Given the description of an element on the screen output the (x, y) to click on. 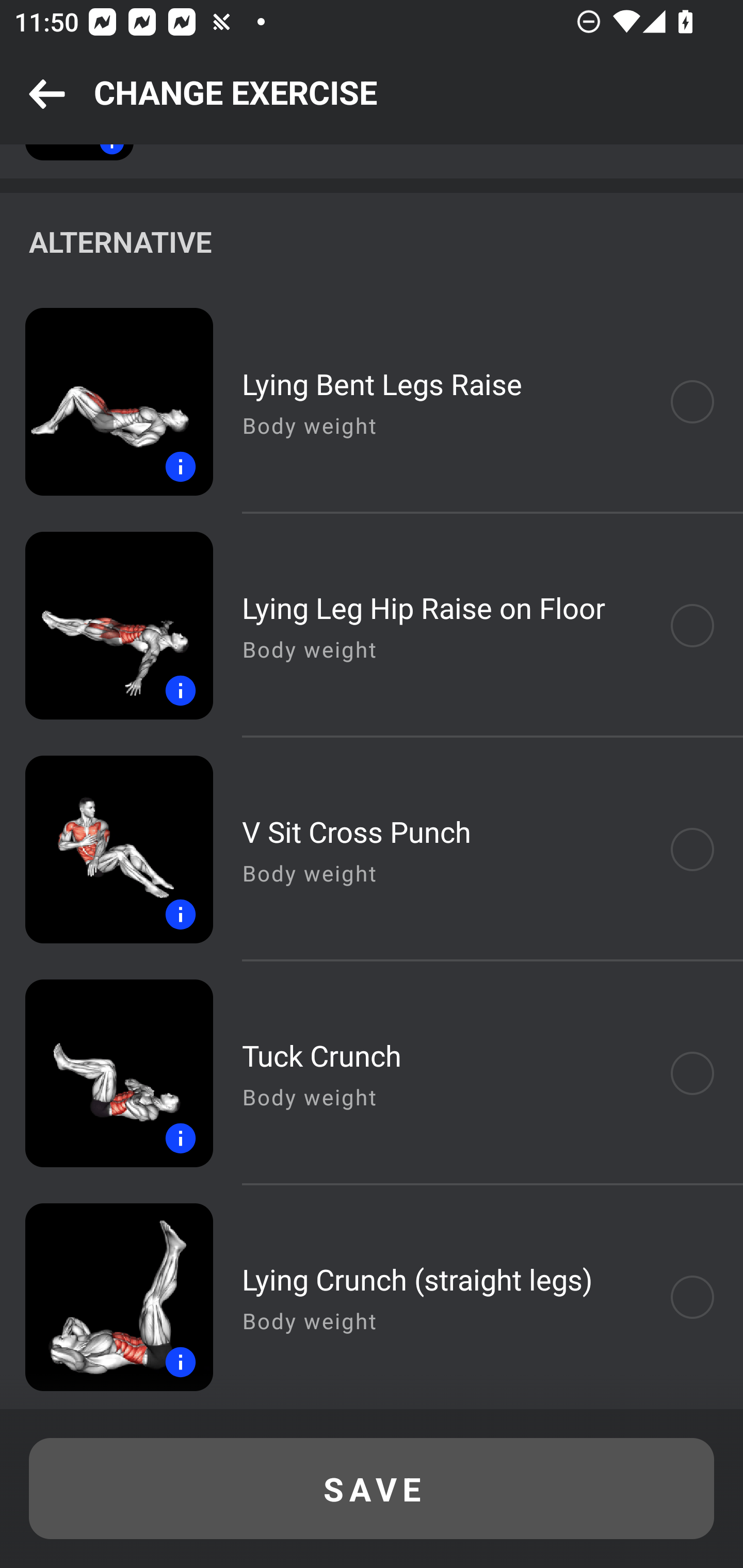
Navigation icon (46, 94)
details Lying Bent Legs Raise Body weight (371, 402)
details (106, 402)
details Lying Leg Hip Raise on Floor Body weight (371, 625)
details (106, 625)
details V Sit Cross Punch Body weight (371, 848)
details (106, 848)
details Tuck Crunch Body weight (371, 1073)
details (106, 1073)
details Lying Crunch (straight legs) Body weight (371, 1297)
details (106, 1297)
SAVE (371, 1488)
